Given the description of an element on the screen output the (x, y) to click on. 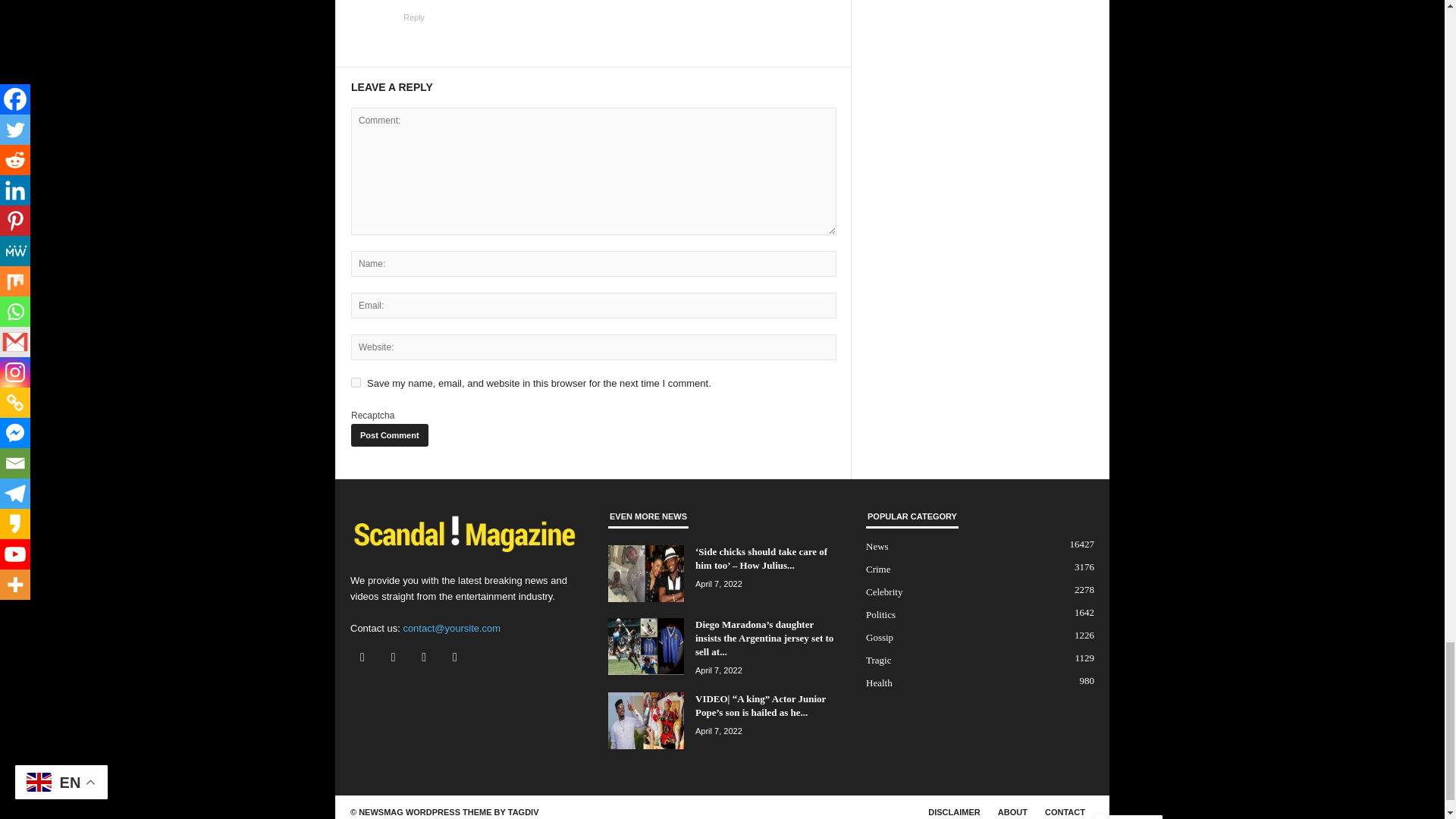
Post Comment (389, 435)
yes (355, 382)
